Given the description of an element on the screen output the (x, y) to click on. 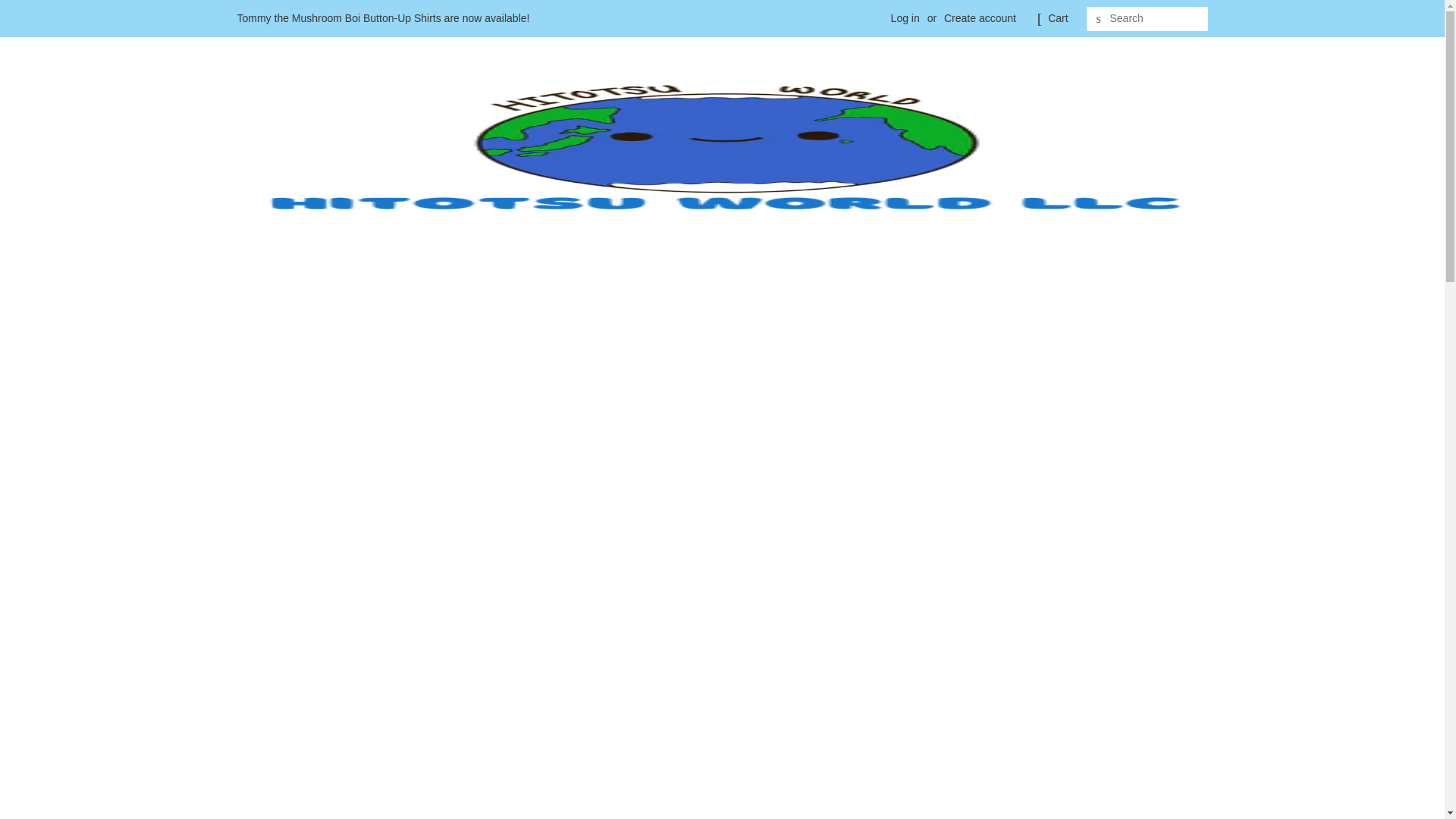
Tommy the Mushroom Boi Button-Up Shirts are now available! (382, 18)
Cart (1057, 18)
Log in (905, 18)
Create account (979, 18)
SEARCH (1097, 18)
